Given the description of an element on the screen output the (x, y) to click on. 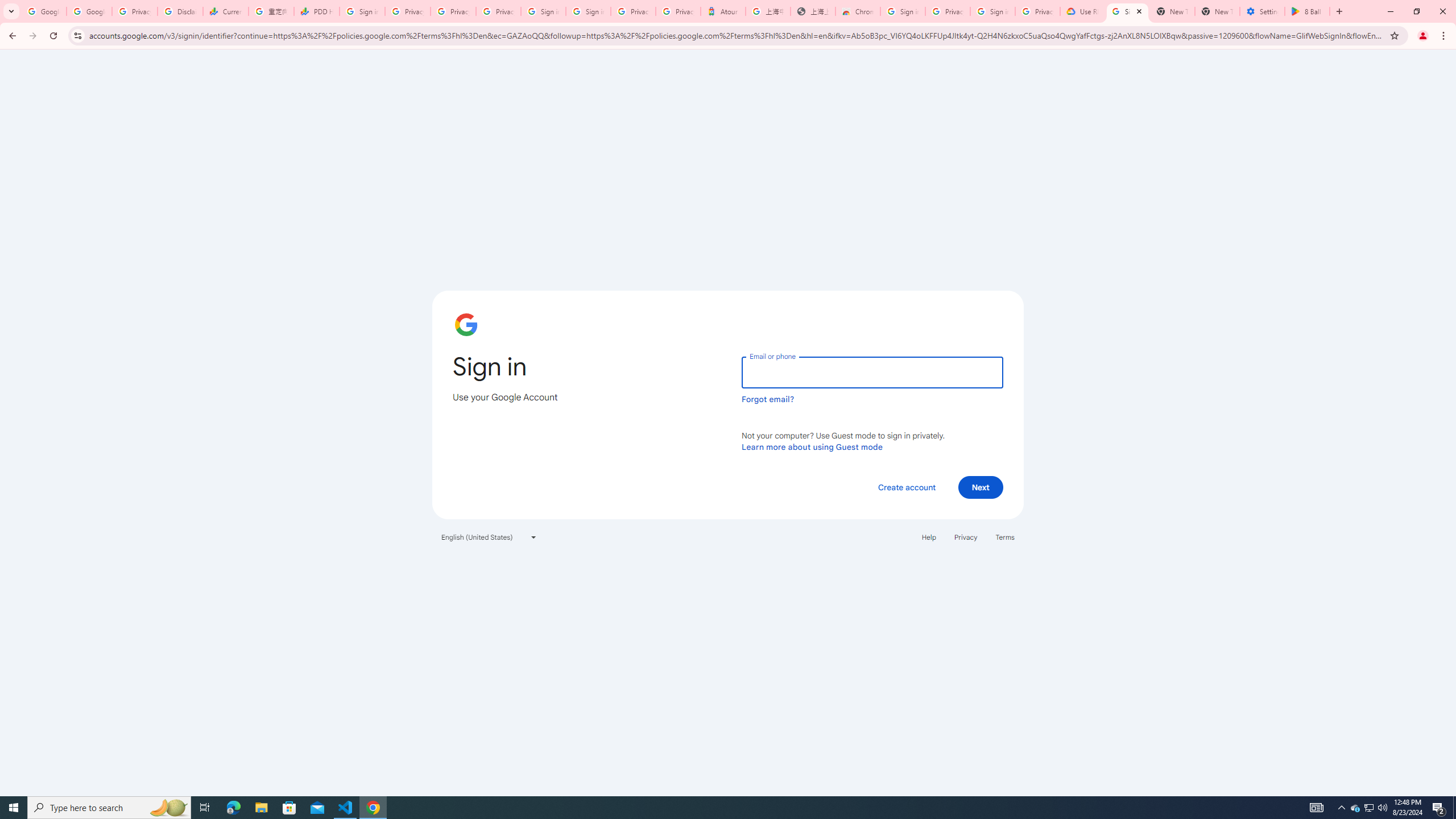
Email or phone (871, 372)
New Tab (1216, 11)
Sign in - Google Accounts (1126, 11)
English (United States) (489, 536)
Create account (905, 486)
